Given the description of an element on the screen output the (x, y) to click on. 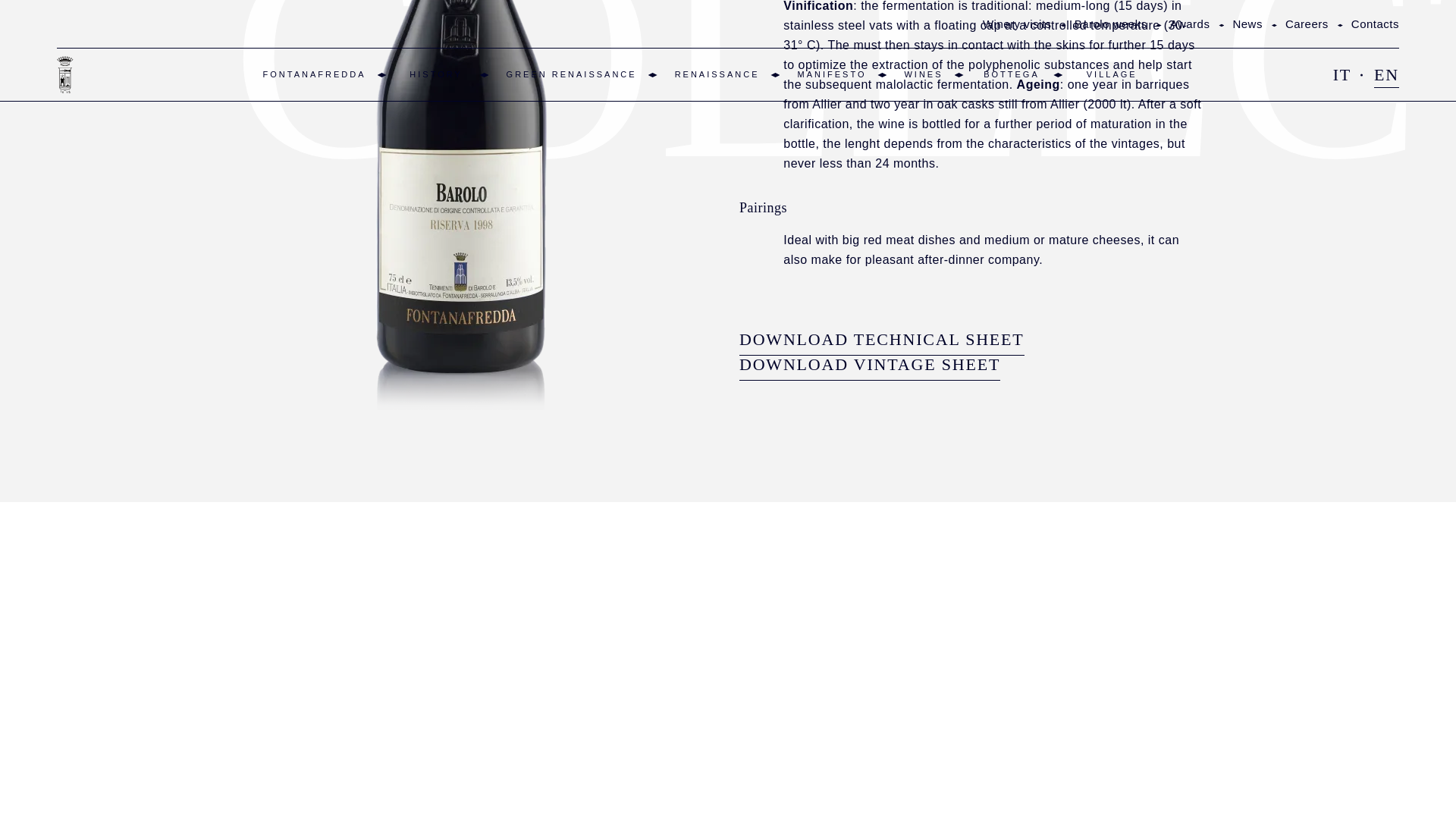
Barolo DOCG Riserva 1998-1997-1996 (462, 28)
